Given the description of an element on the screen output the (x, y) to click on. 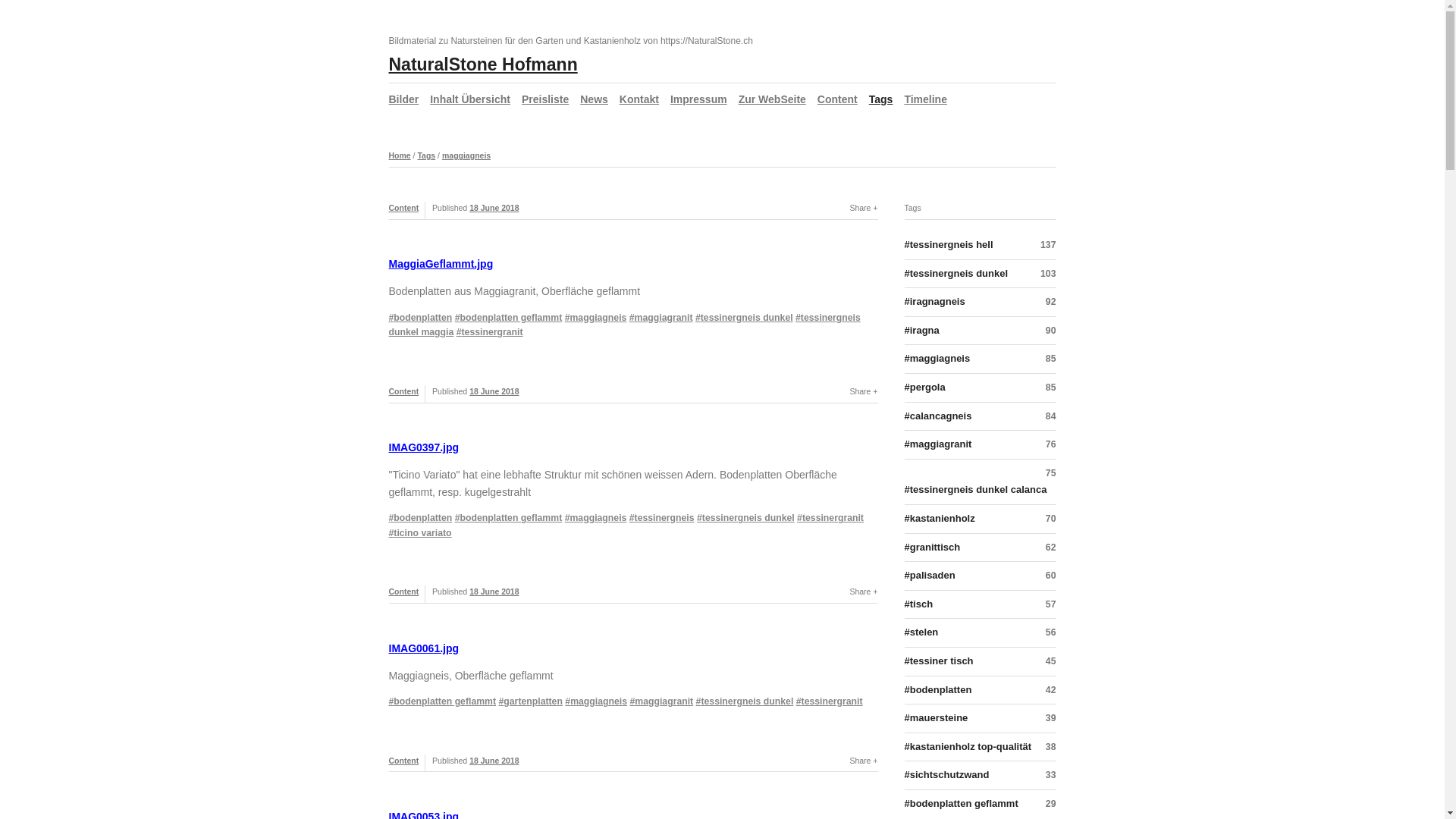
60
palisaden Element type: text (979, 575)
Content Element type: text (403, 591)
tessinergneis dunkel Element type: text (744, 701)
ticino variato Element type: text (419, 532)
84
calancagneis Element type: text (979, 416)
18 June 2018 Element type: text (493, 390)
103
tessinergneis dunkel Element type: text (979, 274)
tessinergneis dunkel Element type: text (745, 517)
70
kastanienholz Element type: text (979, 519)
39
mauersteine Element type: text (979, 718)
Tags Element type: text (426, 155)
tessinergranit Element type: text (489, 331)
90
iragna Element type: text (979, 330)
33
sichtschutzwand Element type: text (979, 775)
137
tessinergneis hell Element type: text (979, 248)
75
tessinergneis dunkel calanca Element type: text (979, 482)
Impressum Element type: text (698, 99)
18 June 2018 Element type: text (493, 759)
85
maggiagneis Element type: text (979, 359)
18 June 2018 Element type: text (493, 591)
NaturalStone Hofmann Element type: text (482, 64)
gartenplatten Element type: text (530, 701)
29
bodenplatten geflammt Element type: text (979, 804)
IMAG0061.jpg Element type: text (423, 648)
maggiagneis Element type: text (466, 155)
45
tessiner tisch Element type: text (979, 661)
Preisliste Element type: text (544, 99)
tessinergranit Element type: text (830, 517)
57
tisch Element type: text (979, 604)
Tags Element type: text (881, 99)
Kontakt Element type: text (638, 99)
bodenplatten geflammt Element type: text (441, 701)
maggiagneis Element type: text (595, 701)
maggiagneis Element type: text (595, 517)
Bilder Element type: text (403, 99)
Content Element type: text (403, 207)
IMAG0397.jpg Element type: text (423, 447)
Zur WebSeite Element type: text (772, 99)
bodenplatten Element type: text (419, 317)
bodenplatten geflammt Element type: text (508, 317)
Timeline Element type: text (925, 99)
MaggiaGeflammt.jpg Element type: text (440, 263)
tessinergranit Element type: text (829, 701)
maggiagranit Element type: text (661, 701)
maggiagneis Element type: text (595, 317)
85
pergola Element type: text (979, 387)
tessinergneis Element type: text (661, 517)
bodenplatten geflammt Element type: text (508, 517)
62
granittisch Element type: text (979, 547)
18 June 2018 Element type: text (493, 207)
maggiagranit Element type: text (661, 317)
76
maggiagranit Element type: text (979, 444)
42
bodenplatten Element type: text (979, 690)
Content Element type: text (403, 390)
56
stelen Element type: text (979, 632)
bodenplatten Element type: text (419, 517)
Home Element type: text (399, 155)
Content Element type: text (403, 759)
tessinergneis dunkel maggia Element type: text (623, 325)
News Element type: text (594, 99)
92
iragnagneis Element type: text (979, 302)
tessinergneis dunkel Element type: text (744, 317)
Content Element type: text (837, 99)
